Given the description of an element on the screen output the (x, y) to click on. 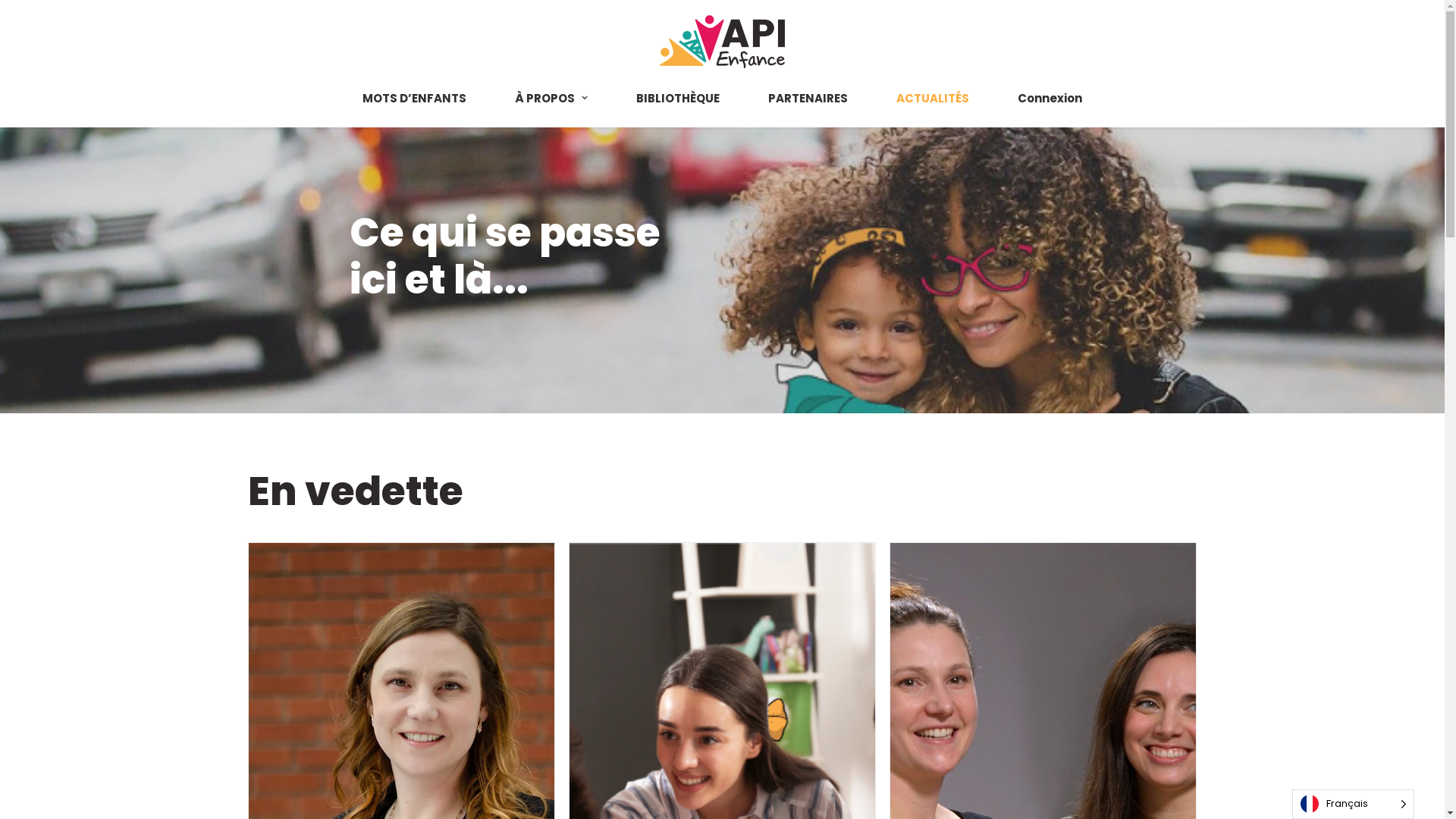
Connexion Element type: text (1038, 97)
PARTENAIRES Element type: text (807, 97)
